Given the description of an element on the screen output the (x, y) to click on. 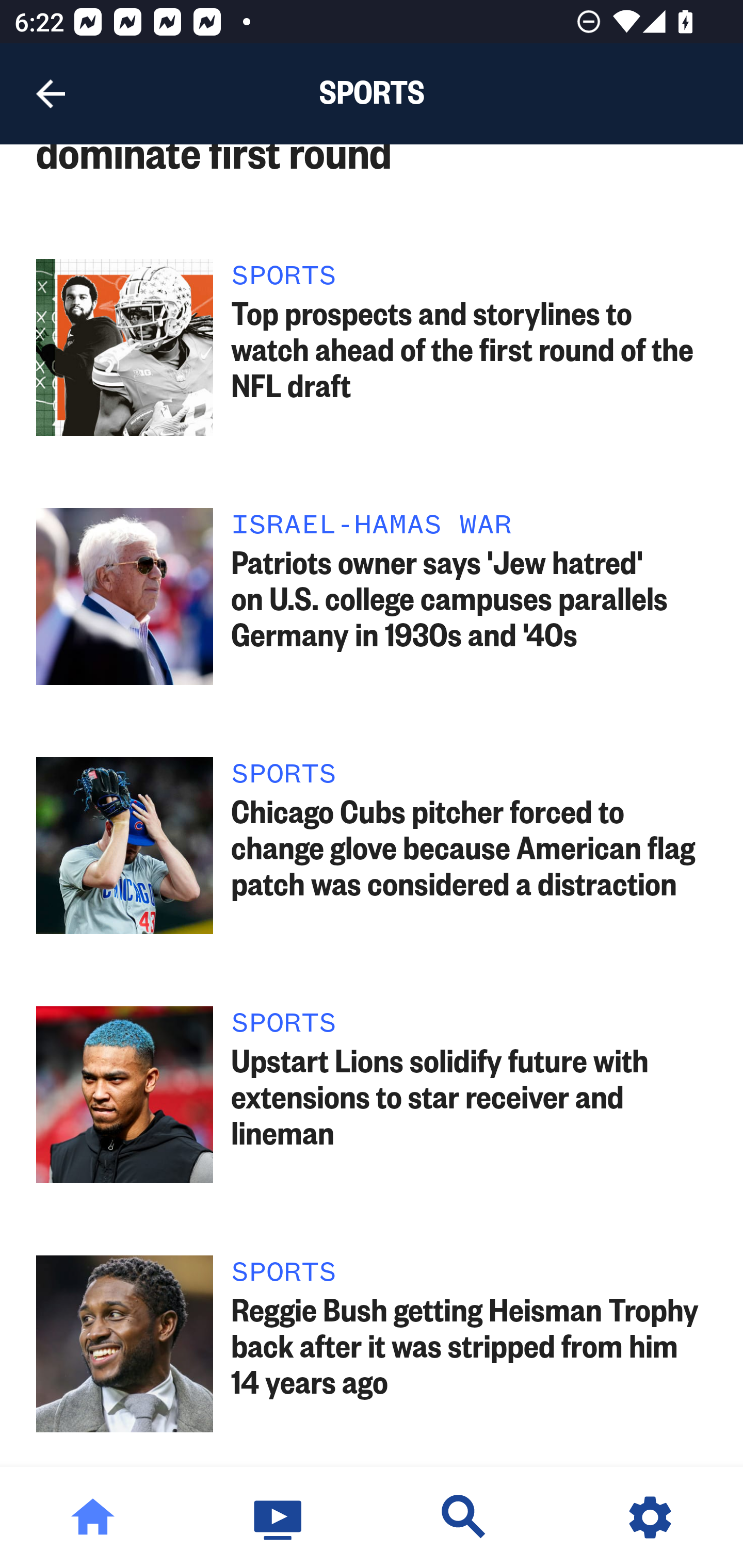
Navigate up (50, 93)
Watch (278, 1517)
Discover (464, 1517)
Settings (650, 1517)
